Given the description of an element on the screen output the (x, y) to click on. 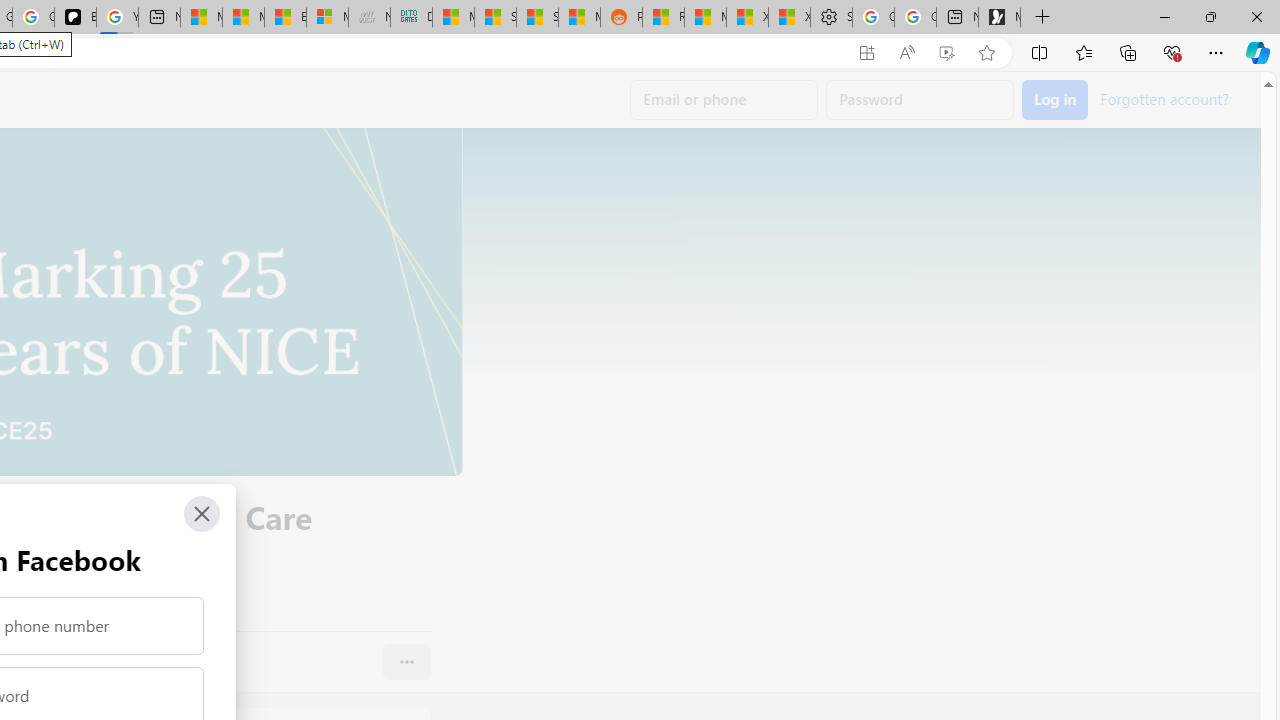
R******* | Trusted Community Engagement and Contributions (662, 17)
Enhance video (946, 53)
Navy Quest (369, 17)
DITOGAMES AG Imprint (411, 17)
MSN (579, 17)
